Given the description of an element on the screen output the (x, y) to click on. 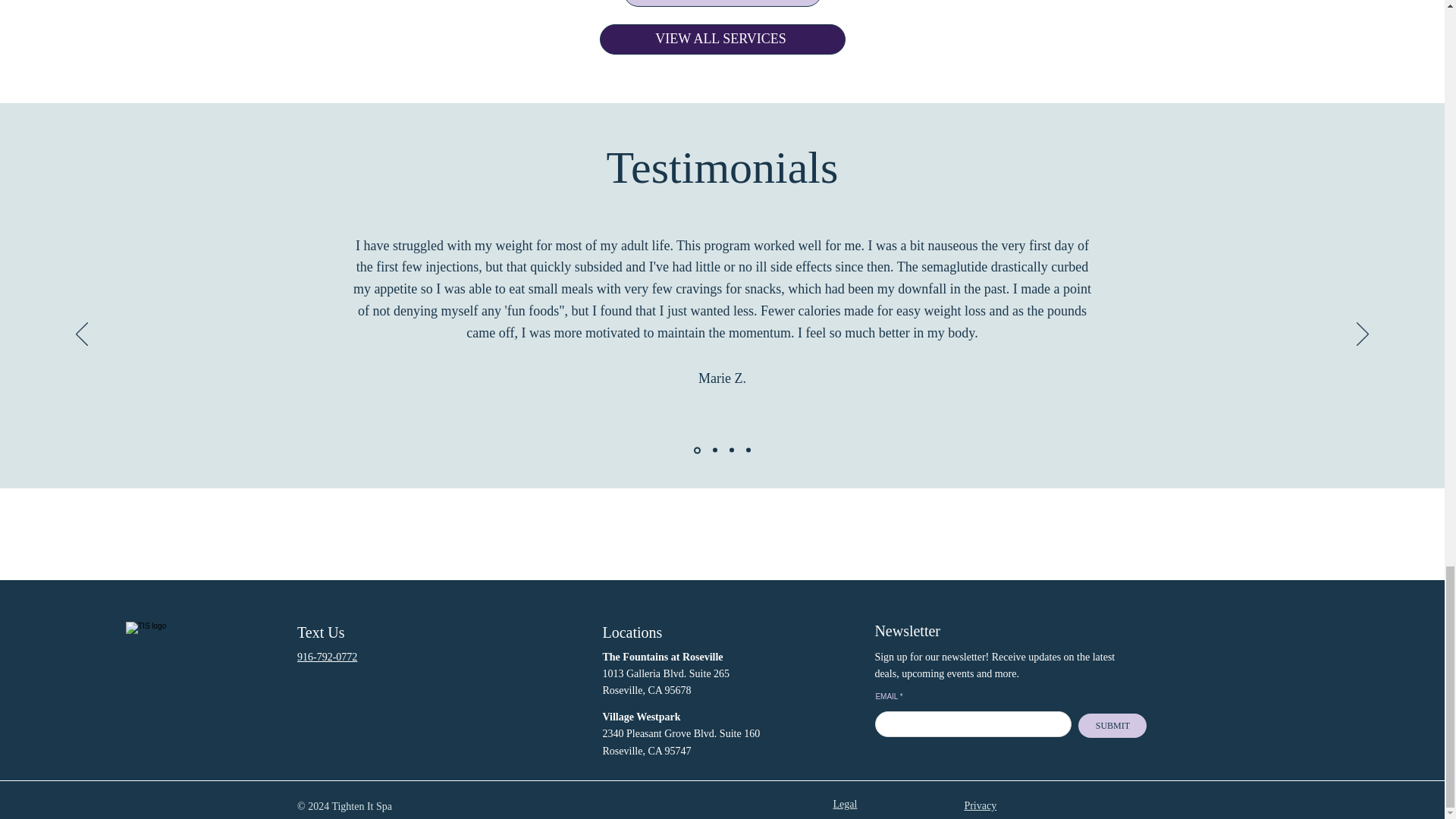
916-792-0772 (326, 656)
BOOK NOW (722, 3)
SUBMIT (1112, 725)
Privacy (979, 805)
Legal (844, 803)
VIEW ALL SERVICES (721, 39)
Logo TiS alone in circle.png (189, 686)
